Given the description of an element on the screen output the (x, y) to click on. 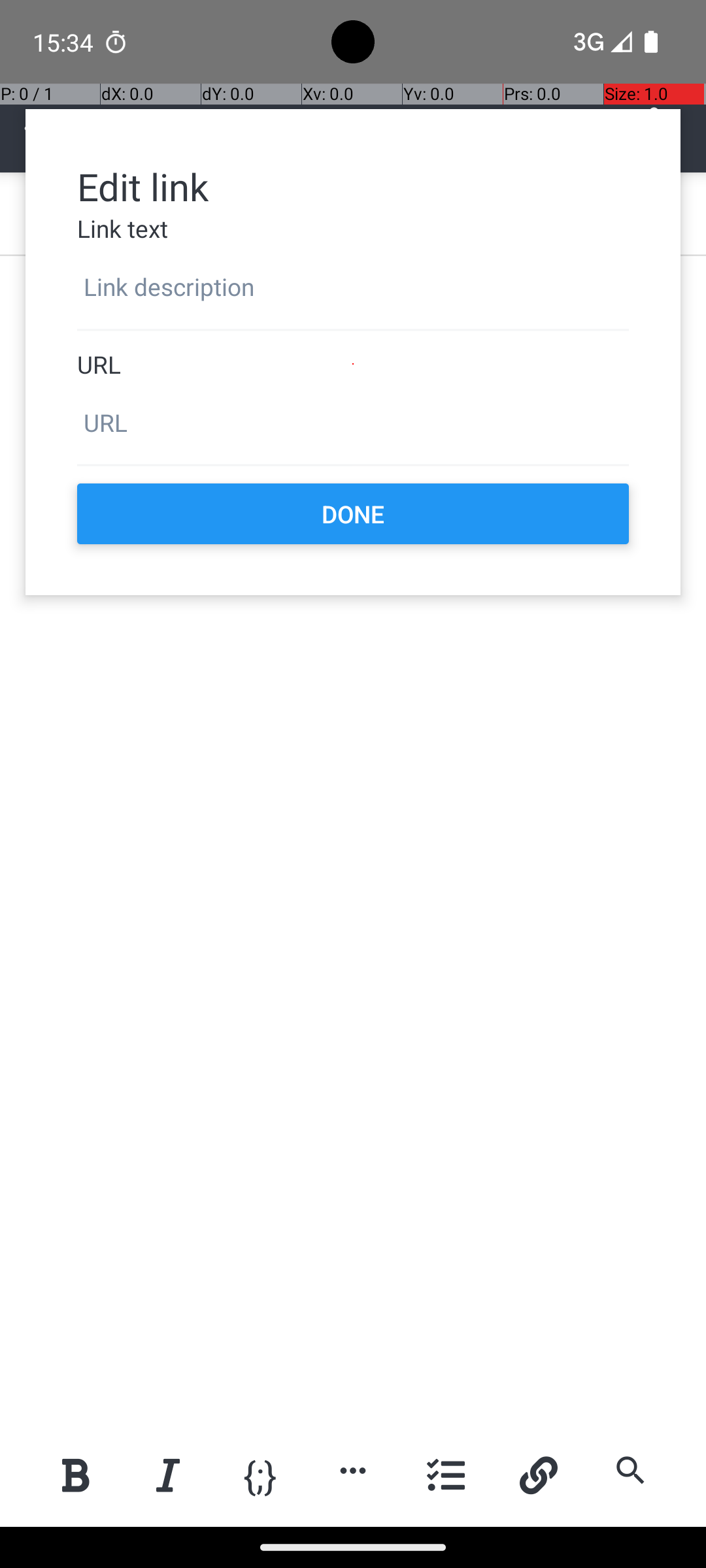
Edit link Element type: android.widget.TextView (352, 185)
Link text Element type: android.widget.TextView (352, 228)
Link description Element type: android.widget.EditText (352, 287)
URL Element type: android.widget.TextView (352, 363)
